Given the description of an element on the screen output the (x, y) to click on. 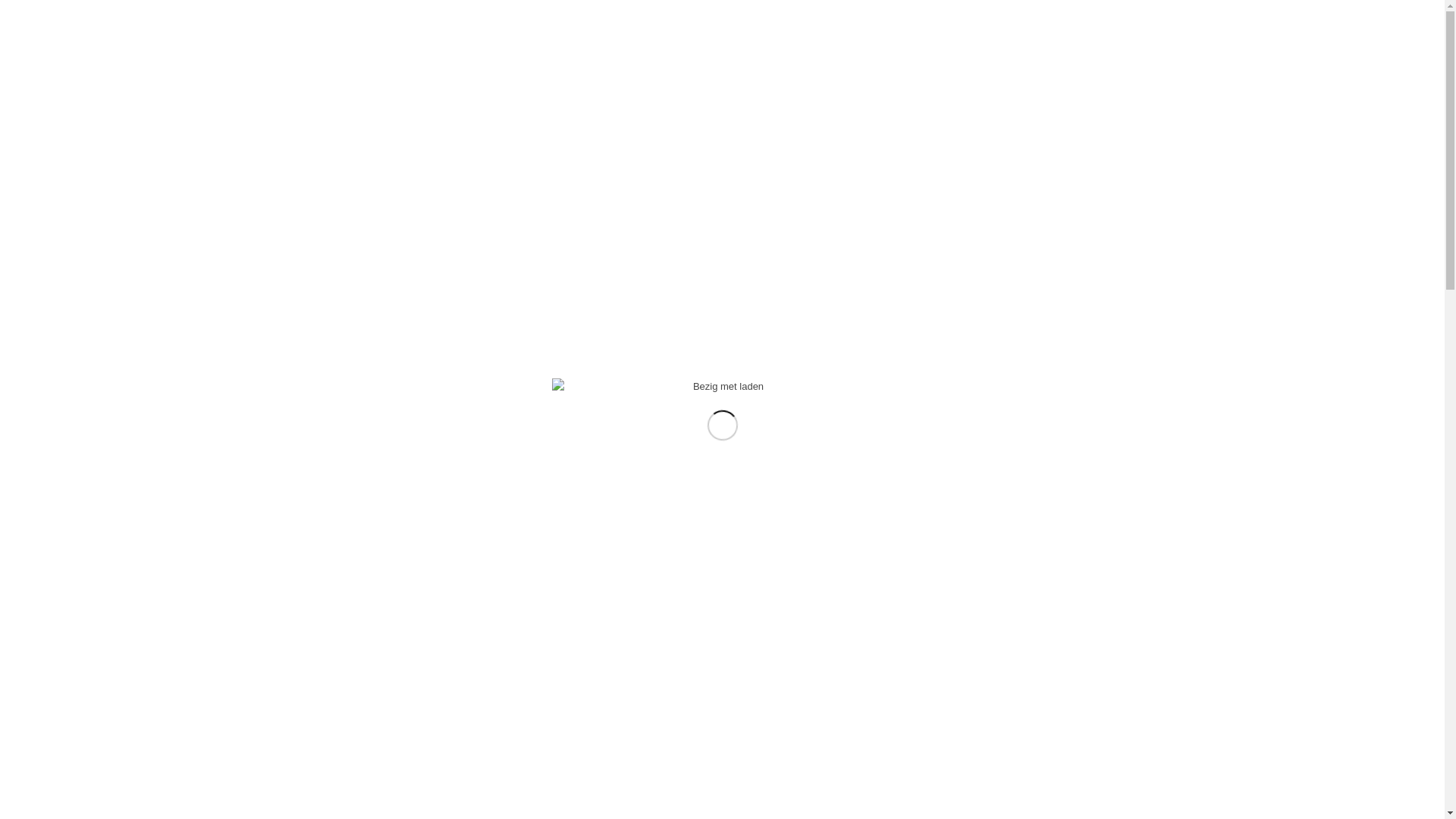
Starters Element type: text (770, 61)
Bezig met laden Element type: hover (722, 386)
Contacteer ons! Element type: text (991, 61)
Telefoon: 011 / 81 62 97 Element type: text (989, 10)
Home Element type: text (654, 61)
boekhoudkantoor-nysen-logo Element type: hover (466, 52)
Over ons Element type: text (709, 61)
Bedrijven Element type: text (831, 61)
Nieuwsbrief Element type: text (903, 61)
Facebook Element type: hover (1055, 11)
